Given the description of an element on the screen output the (x, y) to click on. 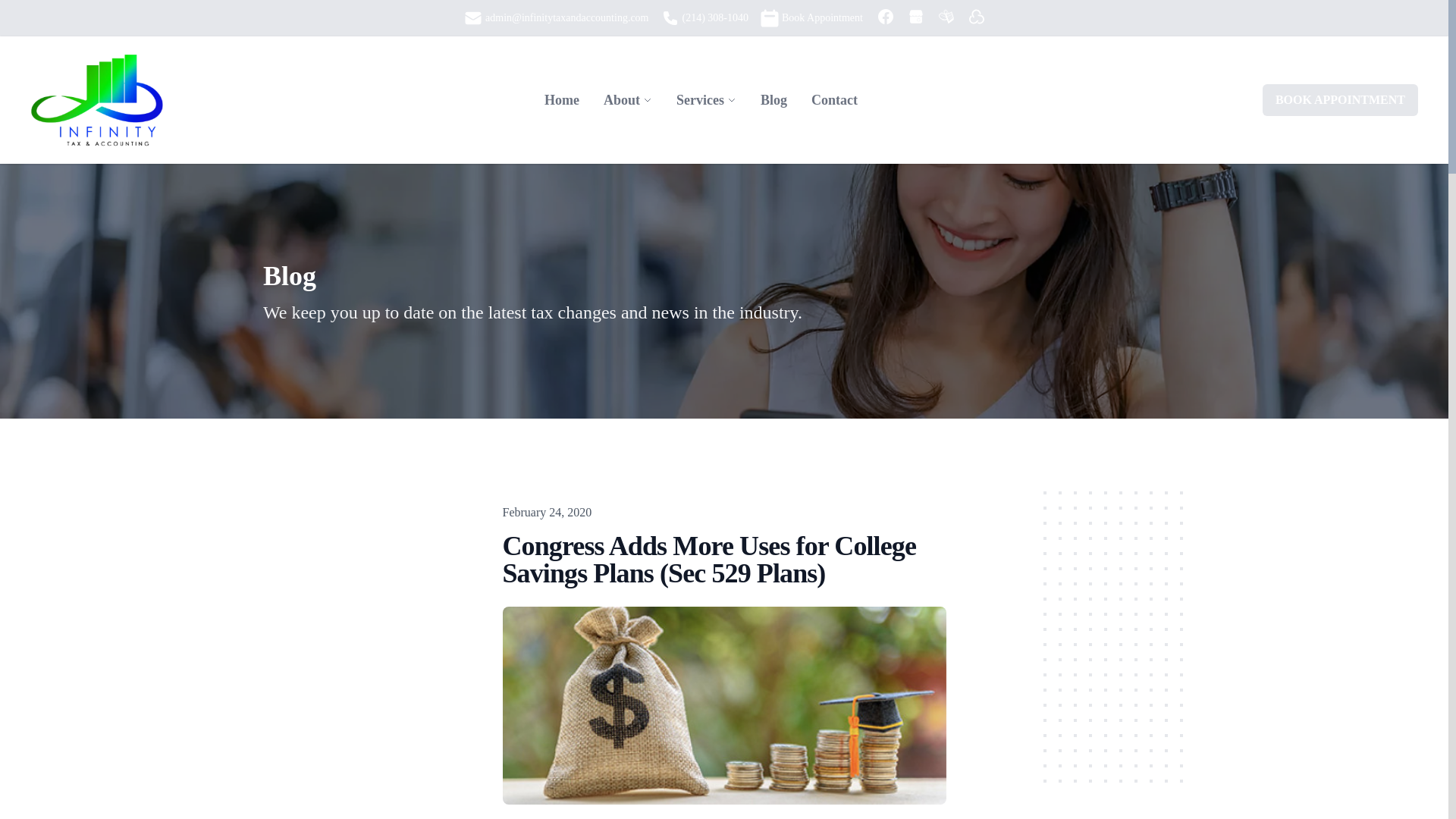
Home (561, 100)
TaxBuzz (946, 16)
Book Appointment (769, 18)
Home (561, 100)
phone (670, 18)
Facebook (885, 16)
Services (700, 99)
BOOK APPOINTMENT (1340, 100)
About (622, 99)
Contact (834, 100)
